Given the description of an element on the screen output the (x, y) to click on. 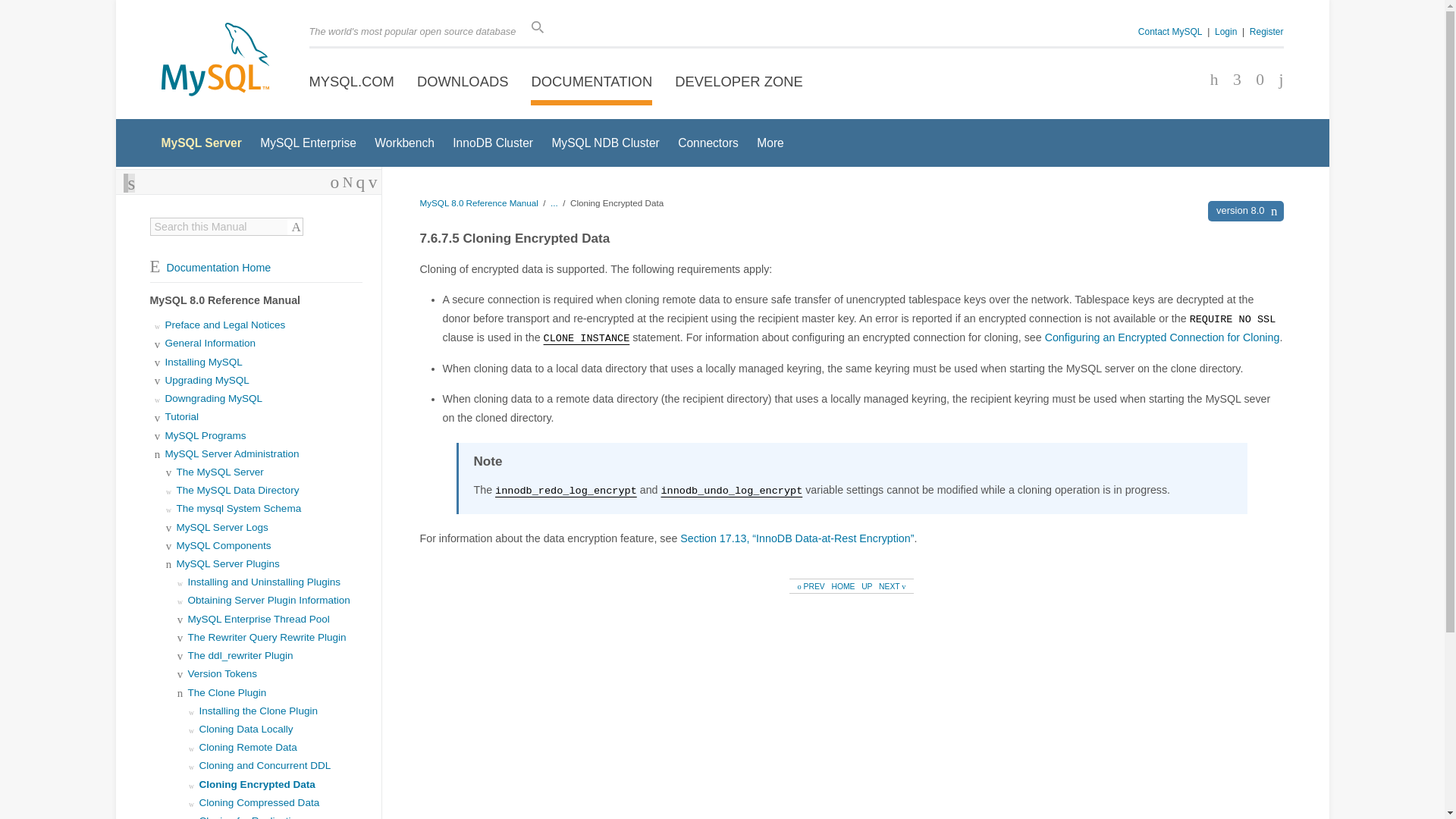
Join us on Facebook (1208, 80)
Visit our YouTube channel (1276, 80)
Search this Manual (217, 226)
InnoDB Cluster (492, 142)
Register (1266, 31)
Search this Manual (217, 226)
MySQL (214, 60)
Preface and Legal Notices (225, 324)
MySQL Enterprise (308, 142)
